Given the description of an element on the screen output the (x, y) to click on. 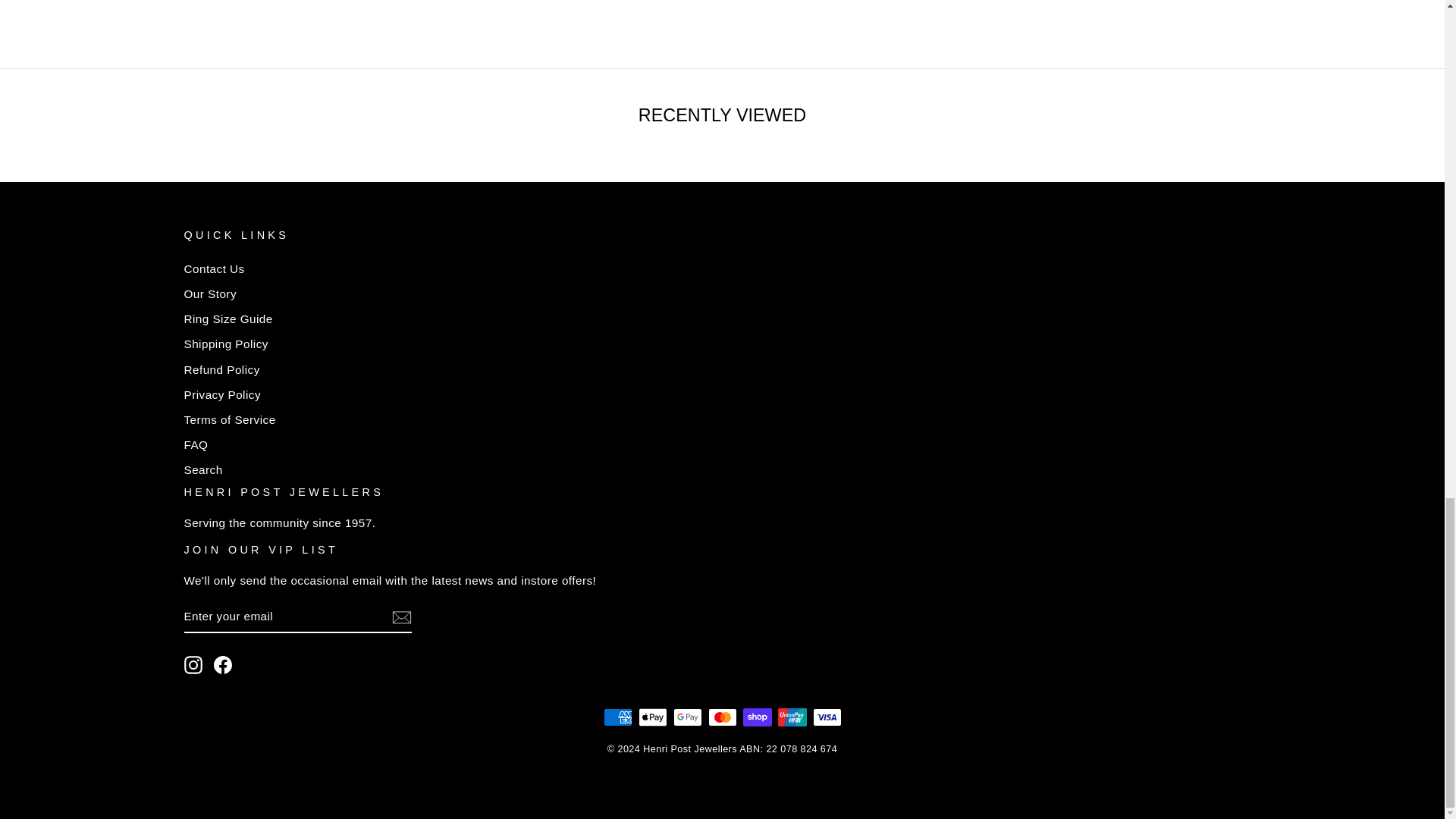
Henri Post Jewellers on Facebook (222, 665)
Visa (826, 717)
Henri Post Jewellers on Instagram (192, 665)
Union Pay (791, 717)
Google Pay (686, 717)
American Express (617, 717)
Shop Pay (756, 717)
Apple Pay (652, 717)
Mastercard (721, 717)
